Given the description of an element on the screen output the (x, y) to click on. 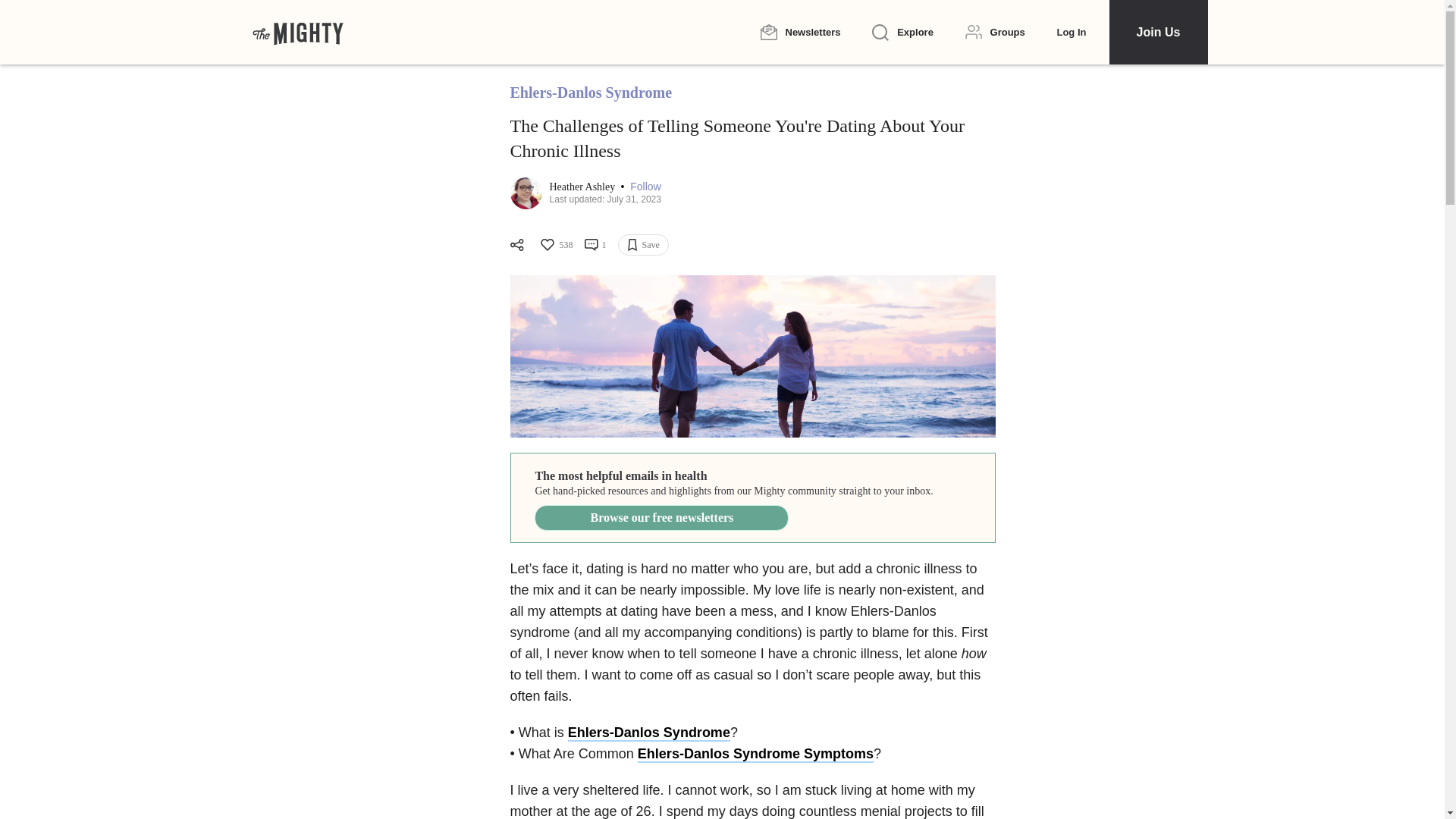
Browse our free newsletters (661, 517)
Explore (902, 32)
1 (594, 244)
Ehlers-Danlos Syndrome Symptoms (755, 754)
Newsletters (800, 31)
Groups (995, 32)
Ehlers-Danlos Syndrome (648, 733)
Join Us (1157, 32)
538 (555, 244)
Save (642, 244)
